Given the description of an element on the screen output the (x, y) to click on. 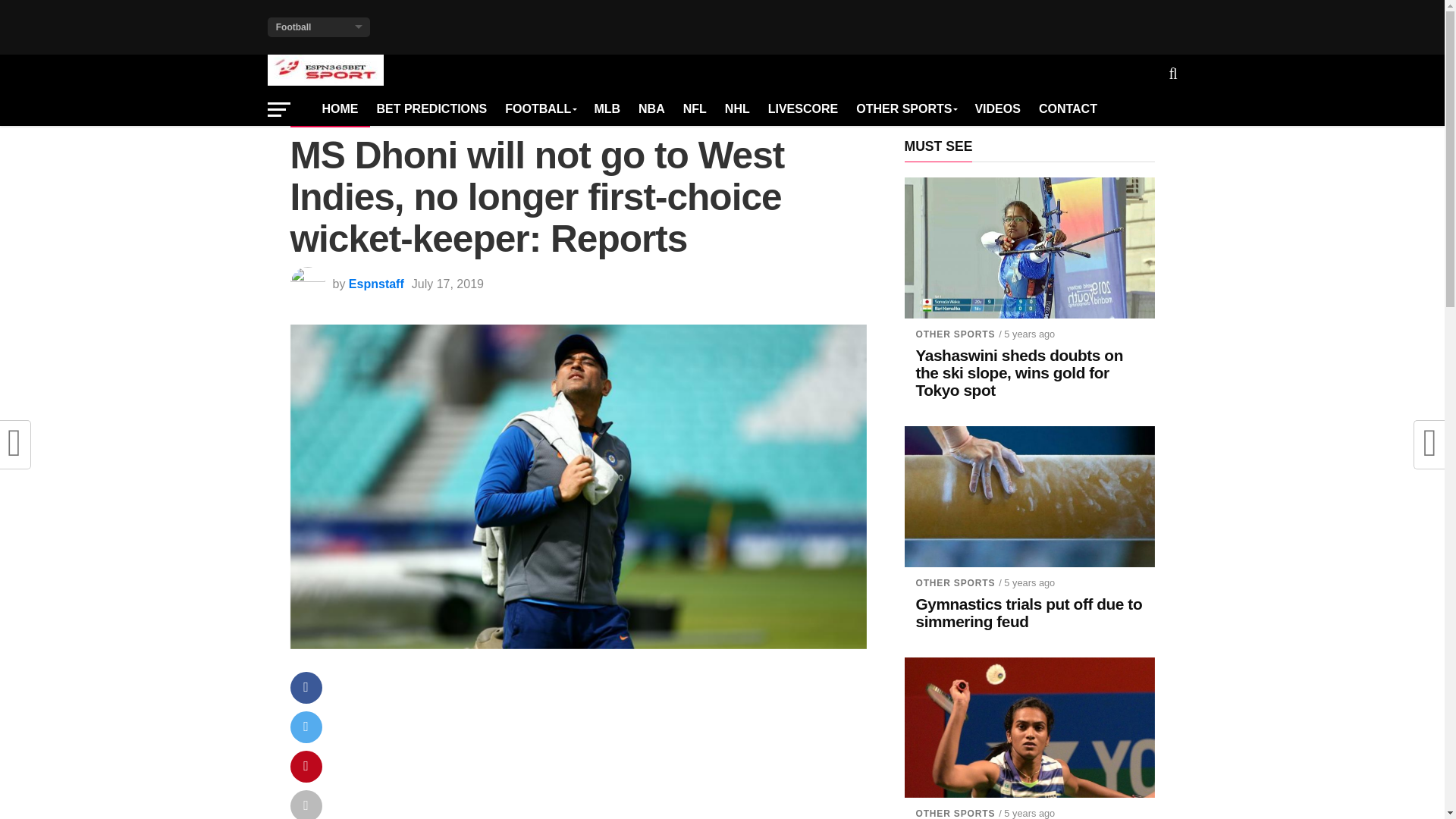
Posts by Espnstaff (376, 283)
Advertisement (605, 749)
BET PREDICTIONS (431, 109)
HOME (339, 109)
